Given the description of an element on the screen output the (x, y) to click on. 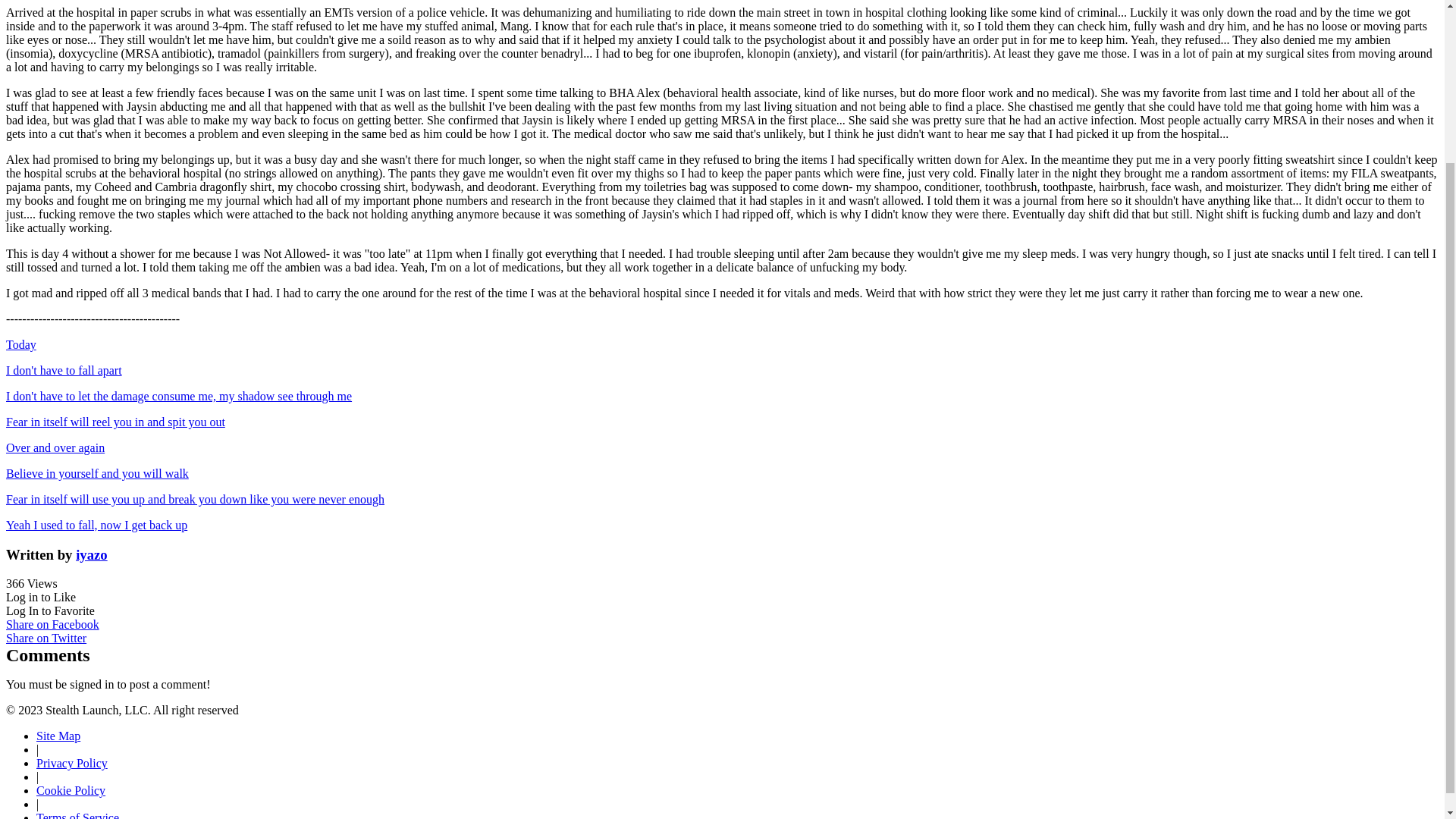
Share on Facebook (52, 624)
I don't have to fall apart (63, 369)
Share on Twitter (45, 637)
Site Map (58, 735)
Over and over again (54, 447)
iyazo (91, 553)
Cookie Policy (70, 789)
Privacy Policy (71, 762)
Believe in yourself and you will walk (97, 472)
Fear in itself will reel you in and spit you out (115, 421)
Today (20, 344)
Yeah I used to fall, now I get back up (96, 524)
